Given the description of an element on the screen output the (x, y) to click on. 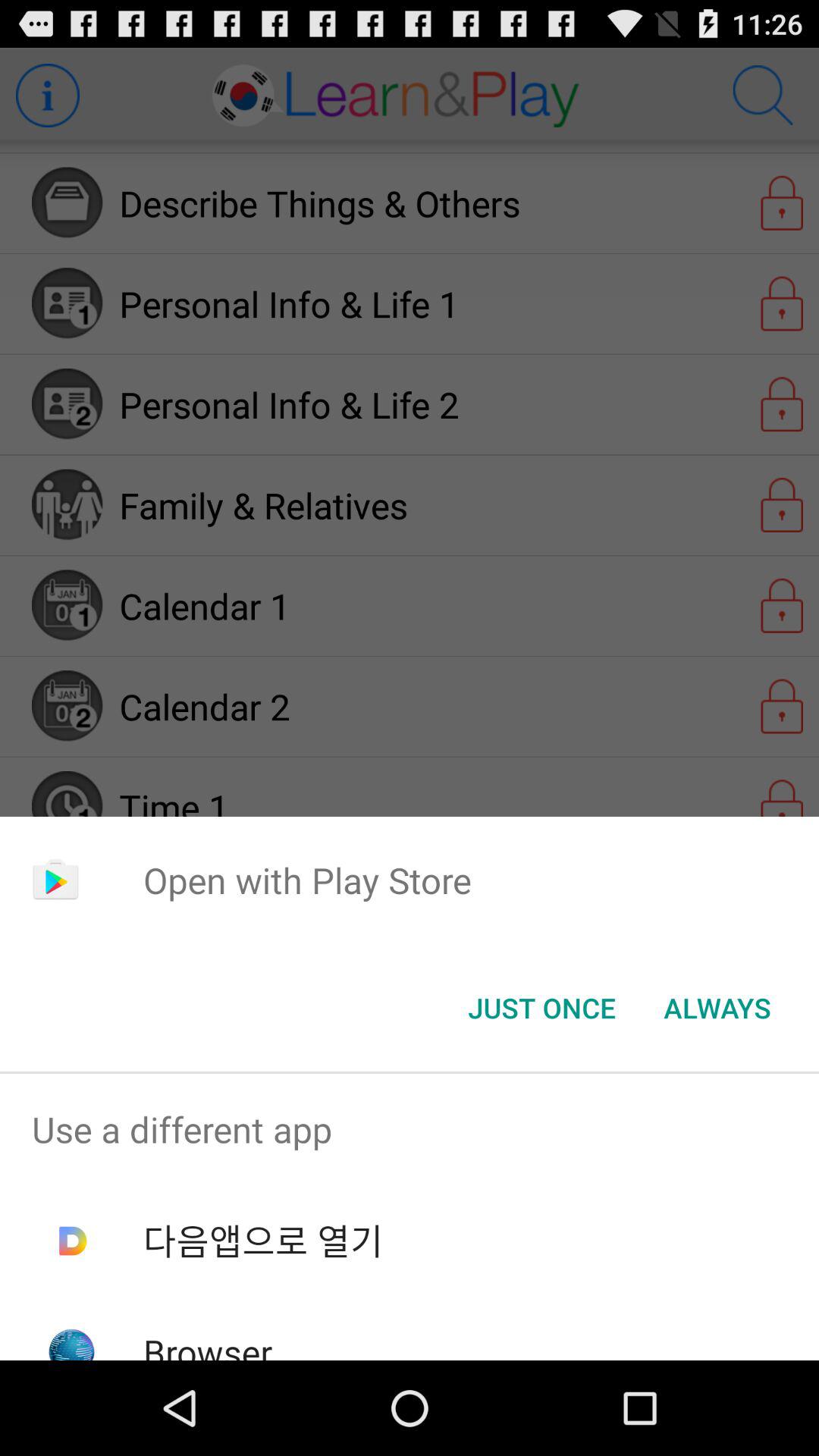
scroll to just once item (541, 1007)
